Given the description of an element on the screen output the (x, y) to click on. 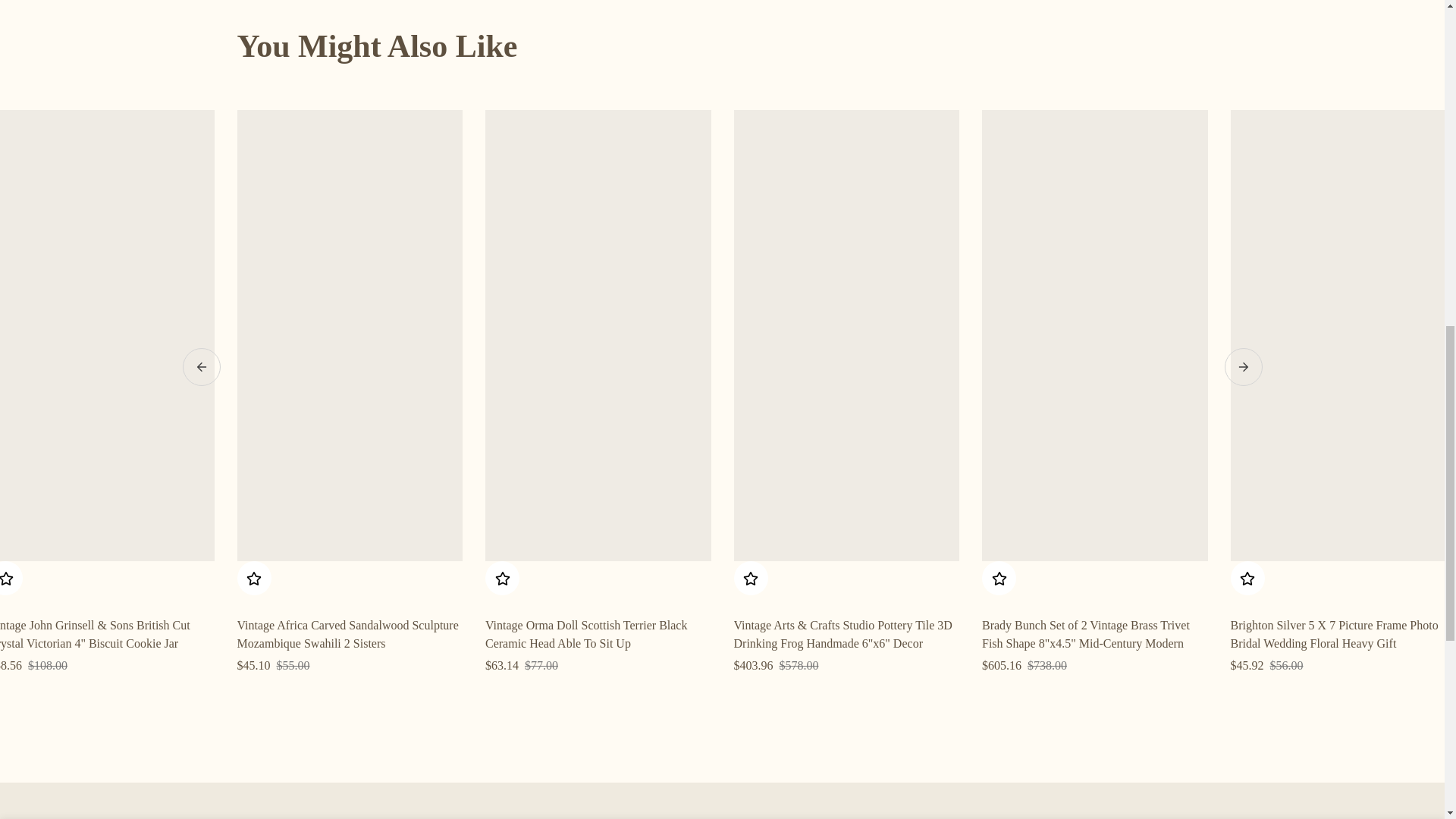
1 (1020, 27)
